Given the description of an element on the screen output the (x, y) to click on. 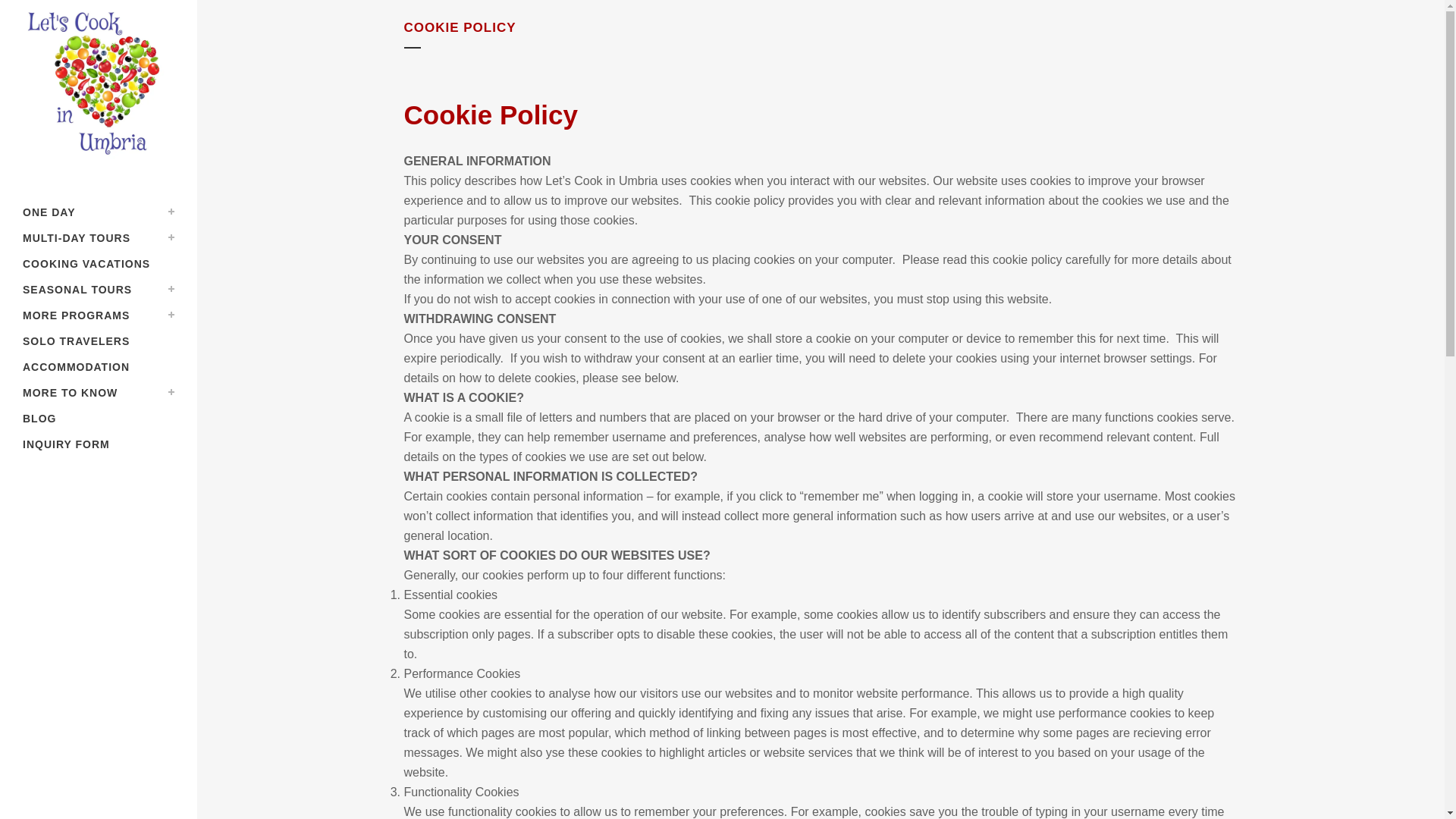
COOKING VACATIONS (98, 263)
Italy Food Tours  (98, 237)
ONE DAY (98, 212)
MULTI-DAY TOURS (98, 237)
SEASONAL TOURS (98, 289)
Daily Cooking Class (98, 212)
